Given the description of an element on the screen output the (x, y) to click on. 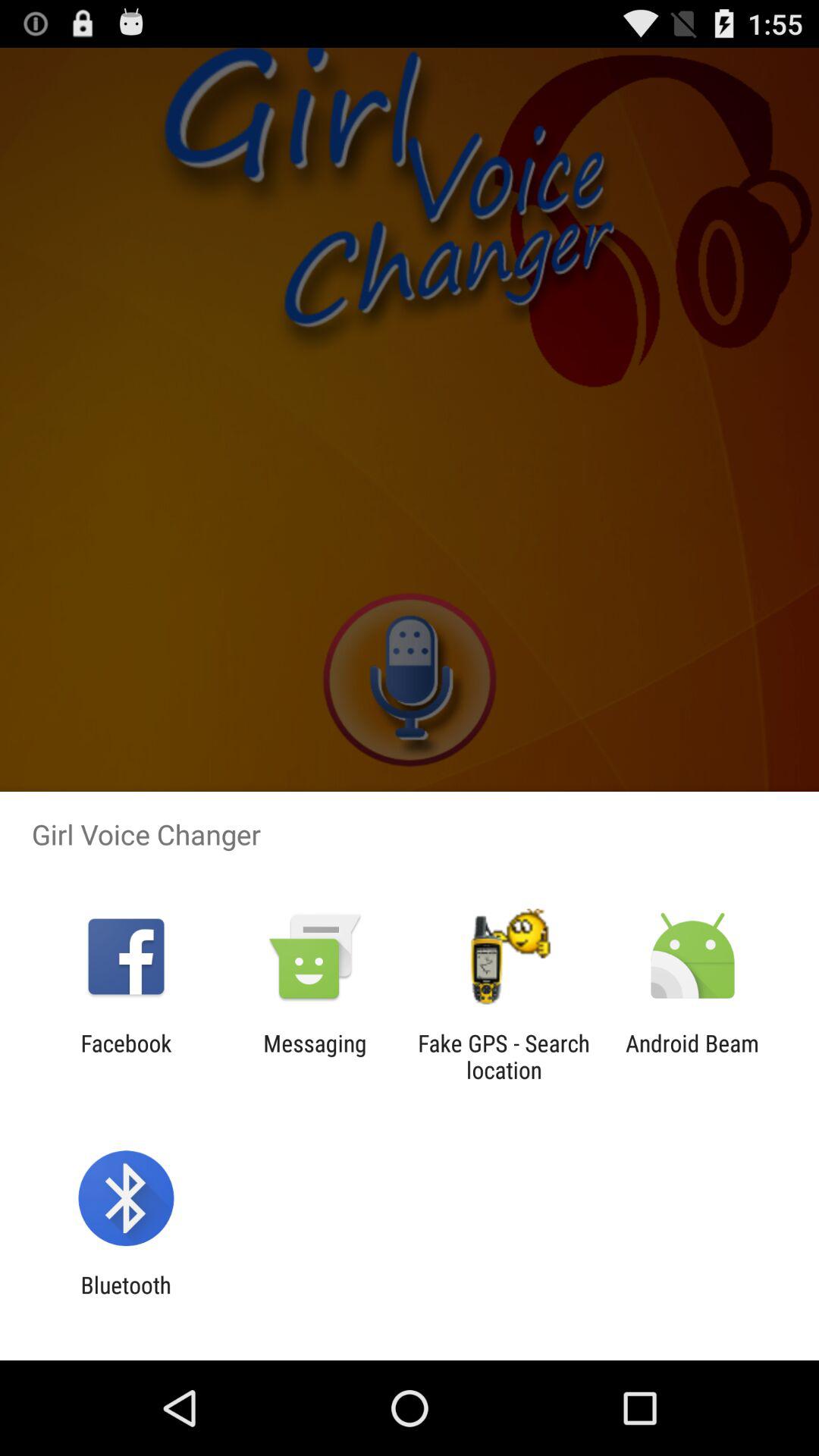
open fake gps search item (503, 1056)
